Given the description of an element on the screen output the (x, y) to click on. 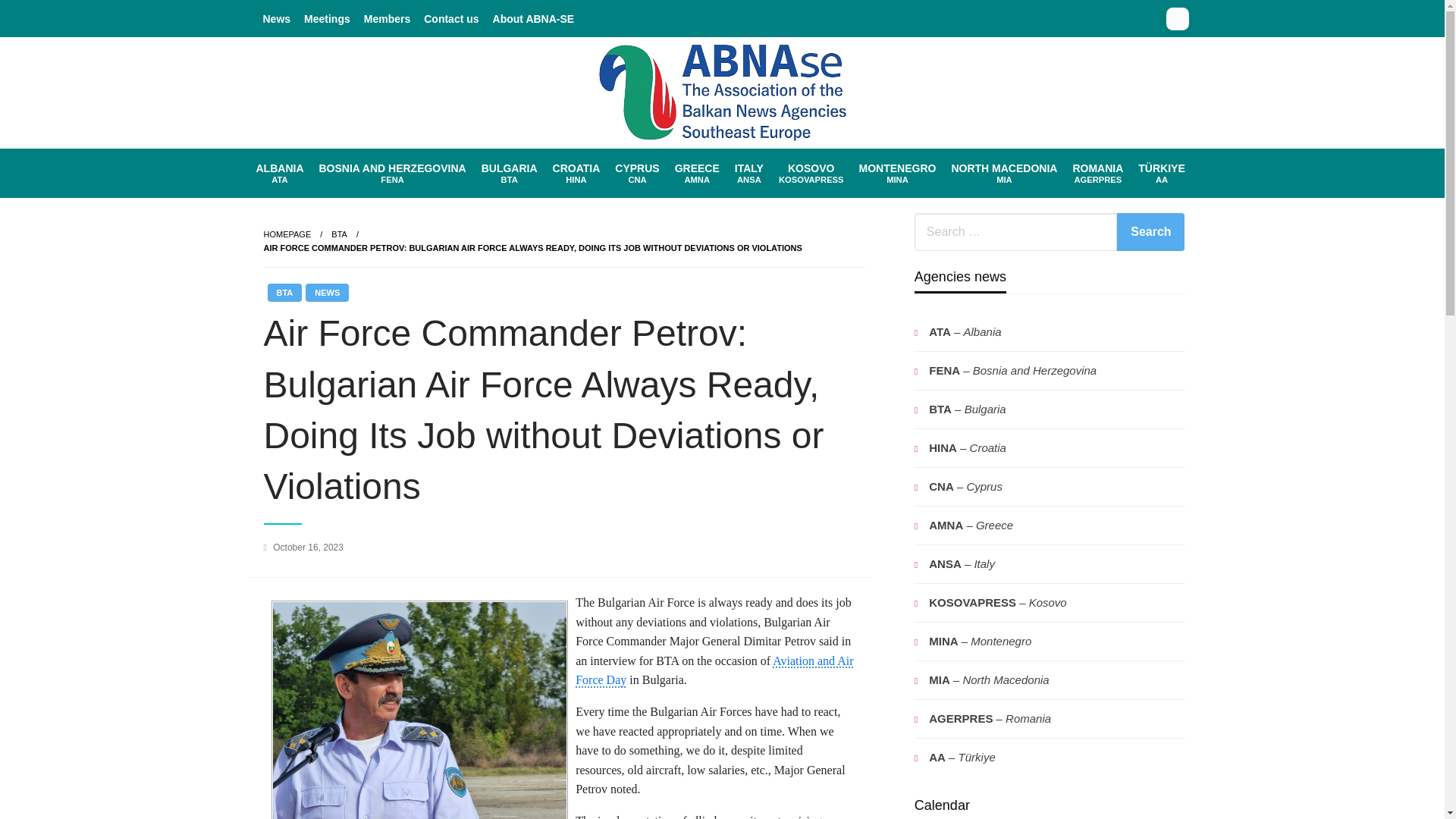
Agerpres (1097, 173)
BTA (339, 234)
KosovaPress (811, 173)
Homepage (287, 234)
ATA (279, 173)
MINA (897, 173)
Search (1150, 231)
NEWS (696, 173)
Search (897, 173)
BTA (576, 173)
October 16, 2023 (327, 292)
